Given the description of an element on the screen output the (x, y) to click on. 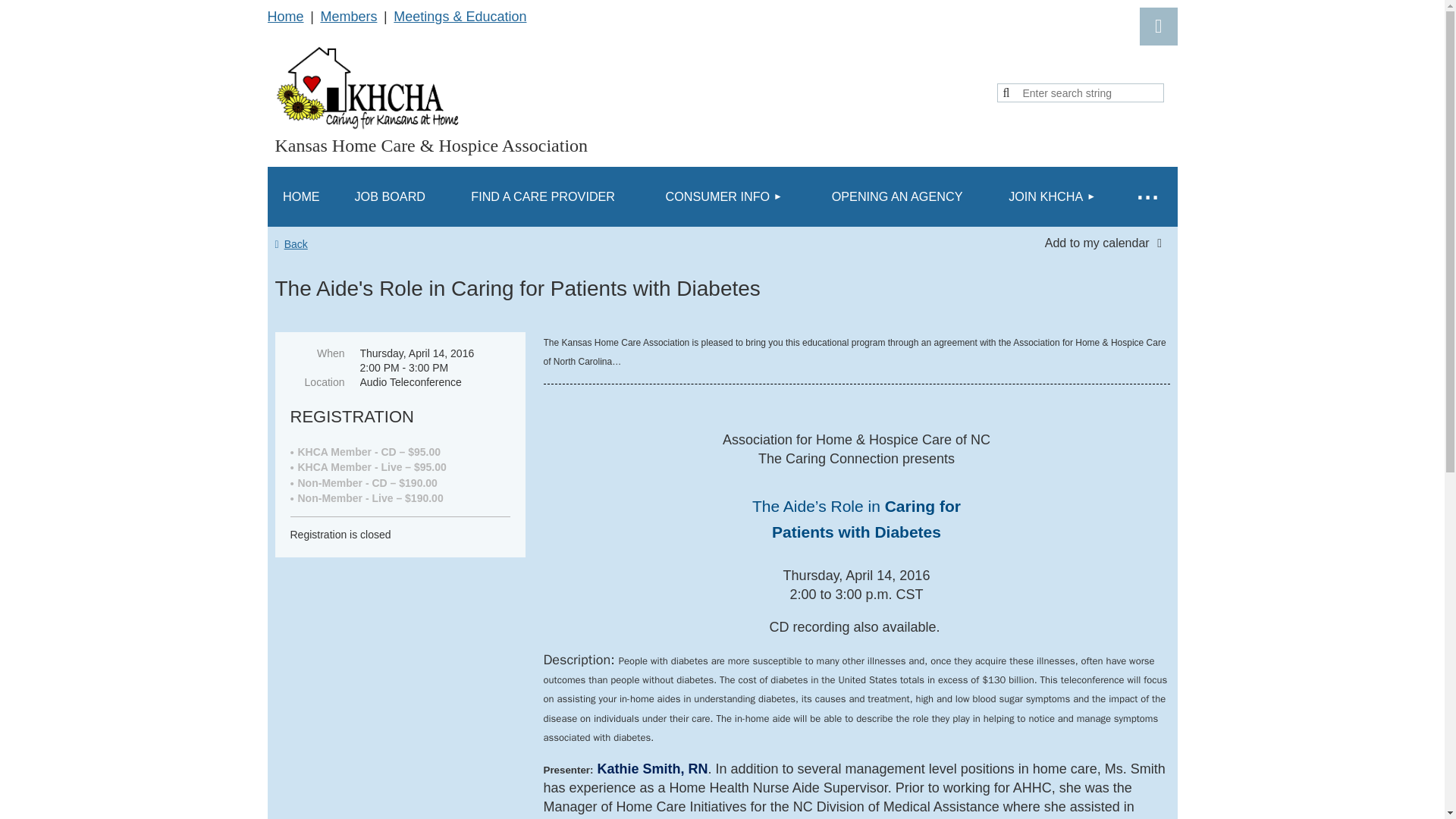
FIND A CARE PROVIDER (543, 196)
OPENING AN AGENCY (896, 196)
Members (348, 16)
JOB BOARD (389, 196)
CONSUMER INFO (724, 196)
Home (284, 16)
HOME (300, 196)
Log in (1157, 26)
